Given the description of an element on the screen output the (x, y) to click on. 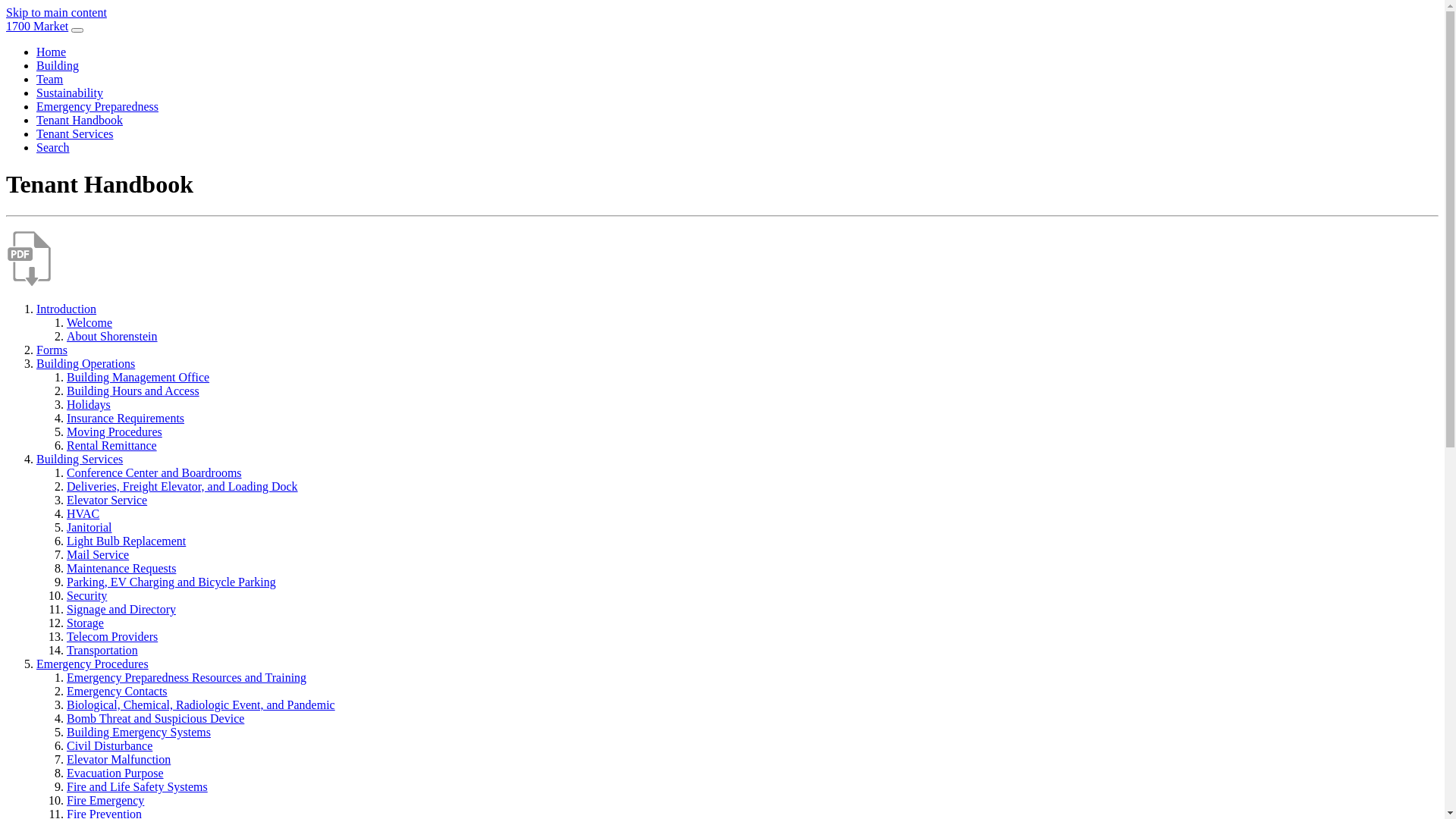
Introduction Element type: text (66, 308)
Building Services Element type: text (79, 458)
Emergency Preparedness Resources and Training Element type: text (186, 677)
Home Element type: text (50, 51)
Emergency Contacts Element type: text (116, 690)
Telecom Providers Element type: text (111, 636)
Moving Procedures Element type: text (114, 431)
1700 Market Element type: text (37, 25)
Emergency Procedures Element type: text (92, 663)
Biological, Chemical, Radiologic Event, and Pandemic Element type: text (200, 704)
Light Bulb Replacement Element type: text (125, 540)
Building Element type: text (57, 65)
Fire and Life Safety Systems Element type: text (136, 786)
Conference Center and Boardrooms Element type: text (153, 472)
Parking, EV Charging and Bicycle Parking Element type: text (171, 581)
Building Operations Element type: text (85, 363)
Elevator Malfunction Element type: text (118, 759)
Tenant Handbook Element type: text (79, 119)
Building Management Office Element type: text (137, 376)
Sustainability Element type: text (69, 92)
Bomb Threat and Suspicious Device Element type: text (155, 718)
Team Element type: text (49, 78)
Janitorial Element type: text (89, 526)
Fire Emergency Element type: text (105, 799)
Rental Remittance Element type: text (111, 445)
HVAC Element type: text (82, 513)
Evacuation Purpose Element type: text (114, 772)
Building Hours and Access Element type: text (132, 390)
Tenant Services Element type: text (74, 133)
Welcome Element type: text (89, 322)
Search Element type: text (52, 147)
Maintenance Requests Element type: text (120, 567)
Security Element type: text (86, 595)
Civil Disturbance Element type: text (109, 745)
Storage Element type: text (84, 622)
About Shorenstein Element type: text (111, 335)
Skip to main content Element type: text (56, 12)
Forms Element type: text (51, 349)
Mail Service Element type: text (97, 554)
Emergency Preparedness Element type: text (97, 106)
Signage and Directory Element type: text (120, 608)
Download Tenant Handbook (PDF) Element type: hover (29, 282)
Elevator Service Element type: text (106, 499)
Building Emergency Systems Element type: text (138, 731)
Transportation Element type: text (102, 649)
Insurance Requirements Element type: text (125, 417)
Deliveries, Freight Elevator, and Loading Dock Element type: text (182, 486)
Holidays Element type: text (88, 404)
